Given the description of an element on the screen output the (x, y) to click on. 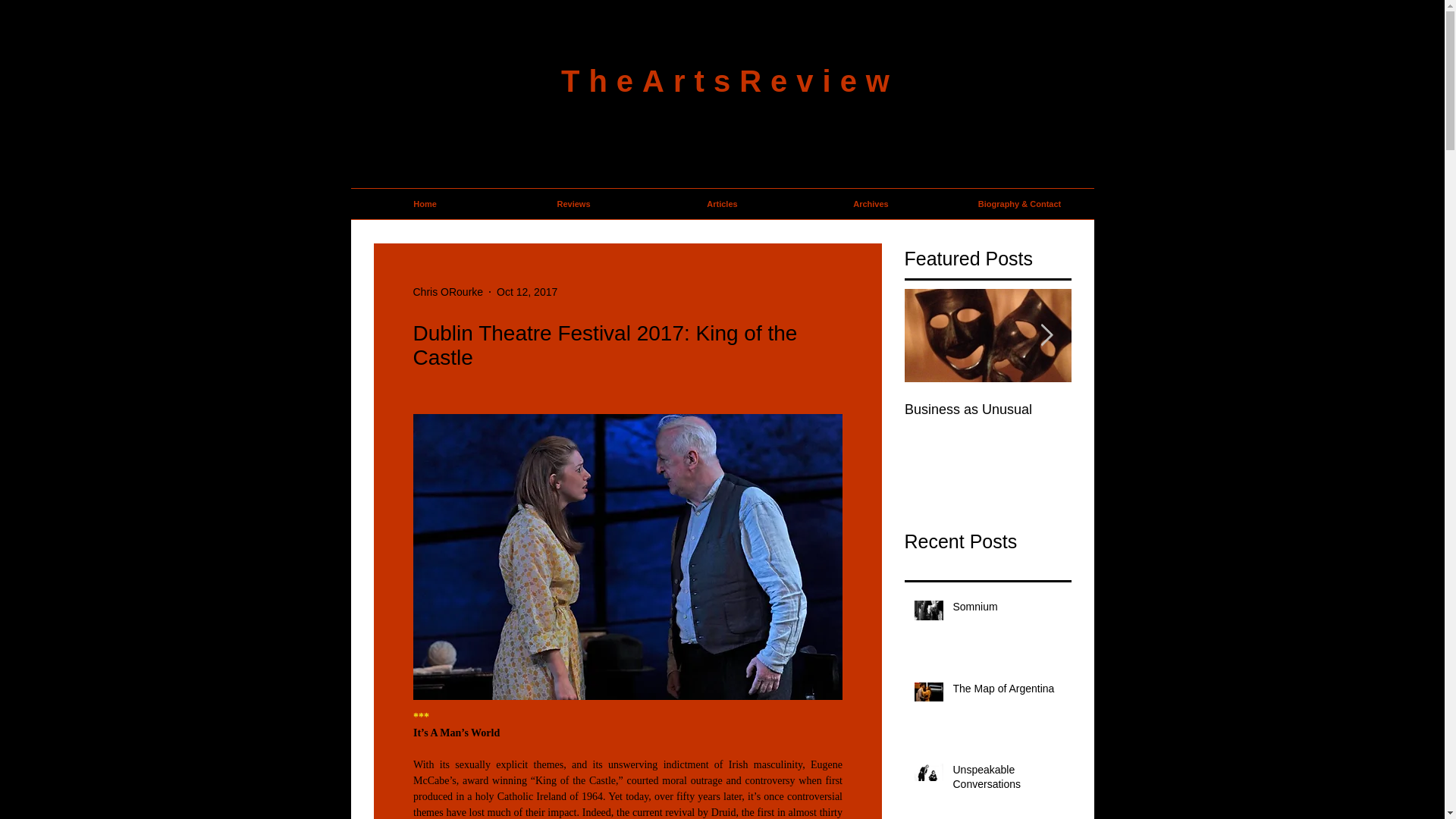
The Map of Argentina (1006, 691)
Chris ORourke (447, 291)
TheArtsReview (729, 80)
Business as Unusual (987, 409)
Archives (870, 204)
Articles (721, 204)
Reviews (573, 204)
Somnium (1006, 609)
Home (424, 204)
Business as Unusual (1153, 409)
Unspeakable Conversations (1006, 780)
Oct 12, 2017 (526, 291)
